Given the description of an element on the screen output the (x, y) to click on. 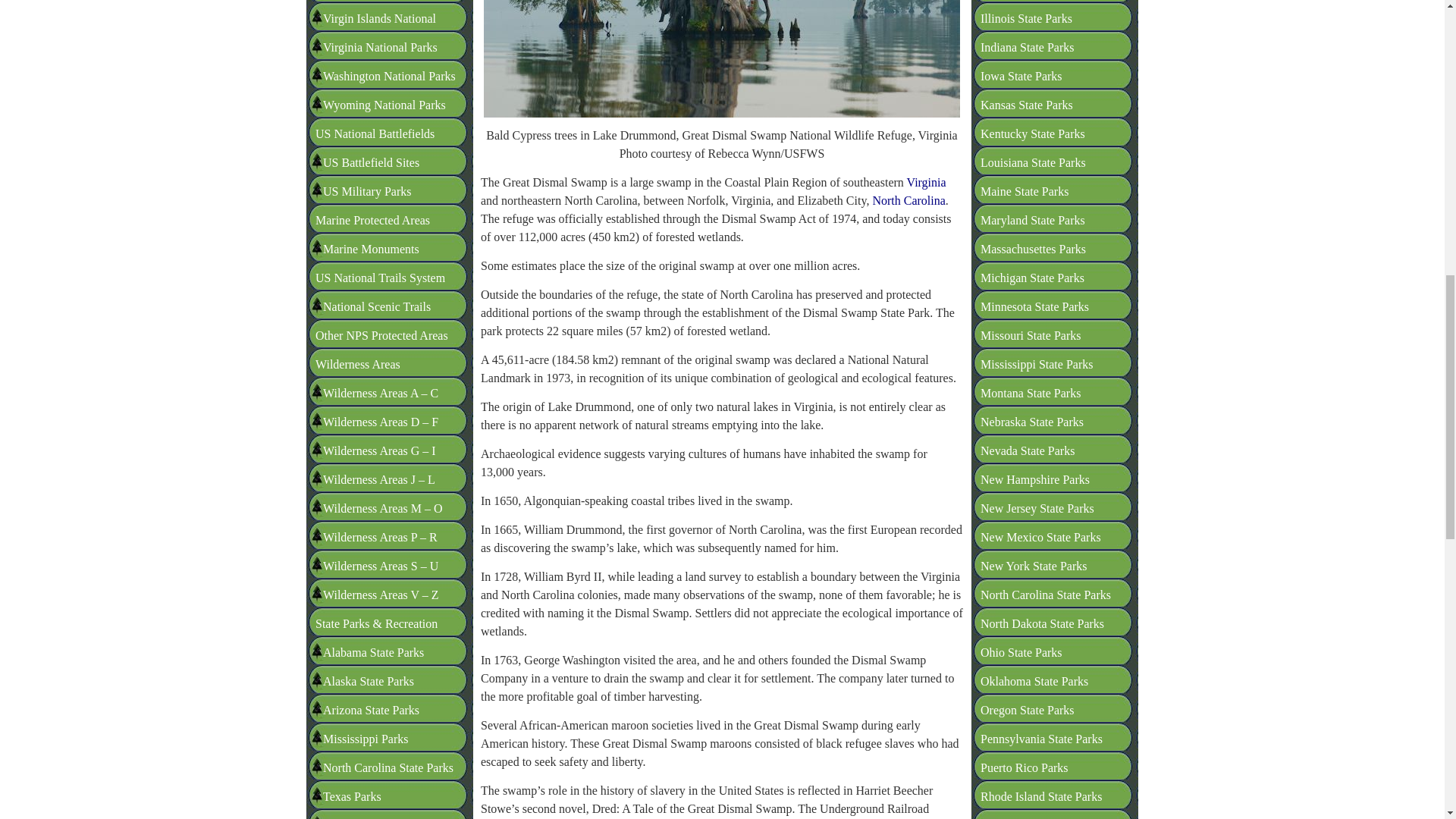
Wilderness Areas (357, 227)
Marine Protected Areas (372, 83)
Alabama State Parks (373, 515)
Other NPS Protected Areas (381, 198)
US National Trails System (380, 141)
US National Battlefields (374, 2)
Alaska State Parks (368, 544)
Arizona State Parks (371, 573)
US Battlefield Sites (371, 25)
Marine Monuments (371, 112)
US Military Parks (366, 54)
National Scenic Trails (376, 169)
